Given the description of an element on the screen output the (x, y) to click on. 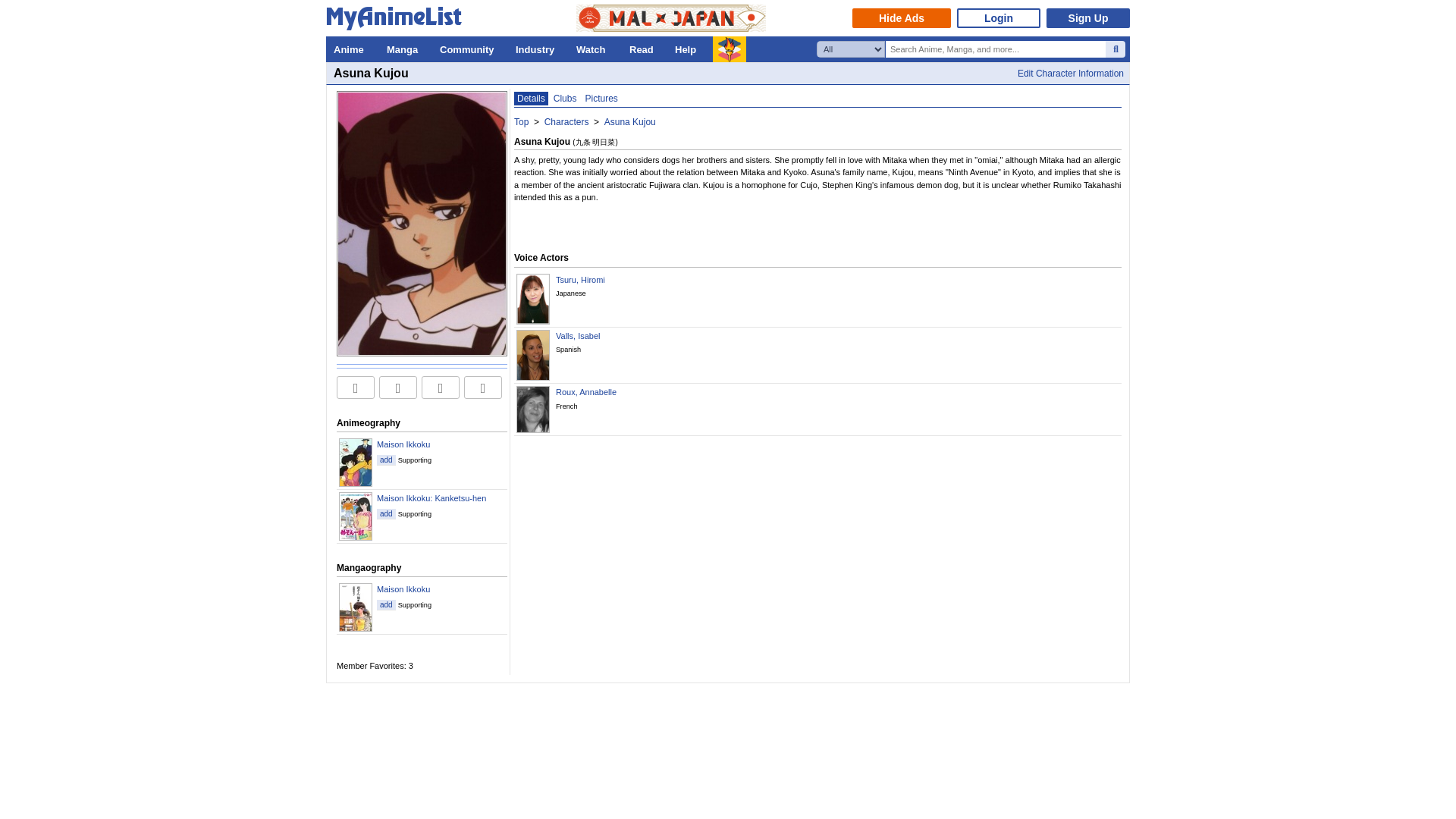
Sign Up (1087, 17)
Community (470, 49)
Hide Ads (900, 17)
Industry (538, 49)
Login (998, 17)
MyAnimeList.net (398, 21)
MAL x JAPAN (670, 17)
Read (643, 49)
Manga (405, 49)
Anime (352, 49)
